Given the description of an element on the screen output the (x, y) to click on. 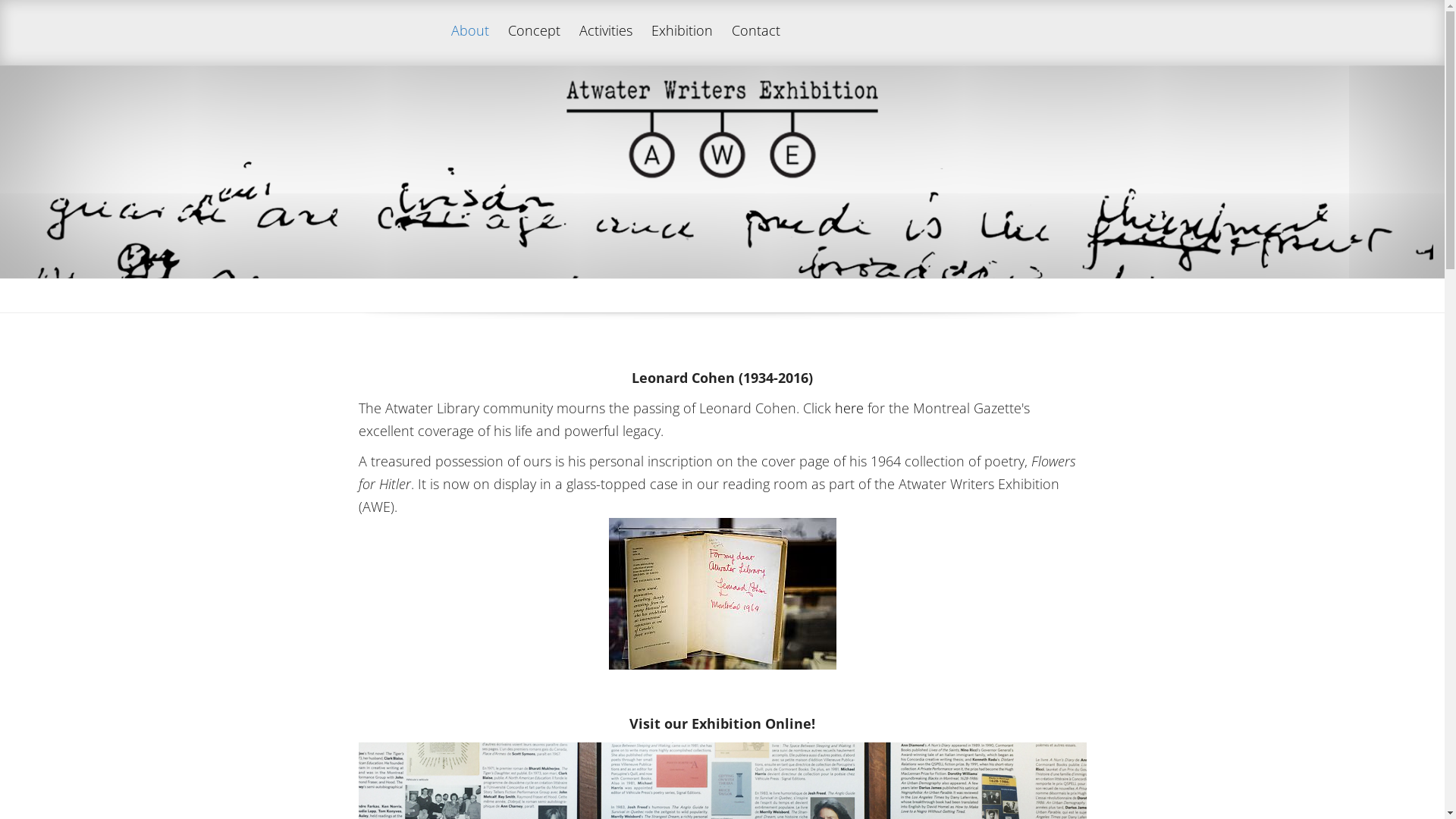
Contact Element type: text (755, 44)
here Element type: text (848, 407)
About Element type: text (468, 44)
Exhibition Element type: text (681, 44)
Activities Element type: text (605, 44)
Concept Element type: text (533, 44)
